Given the description of an element on the screen output the (x, y) to click on. 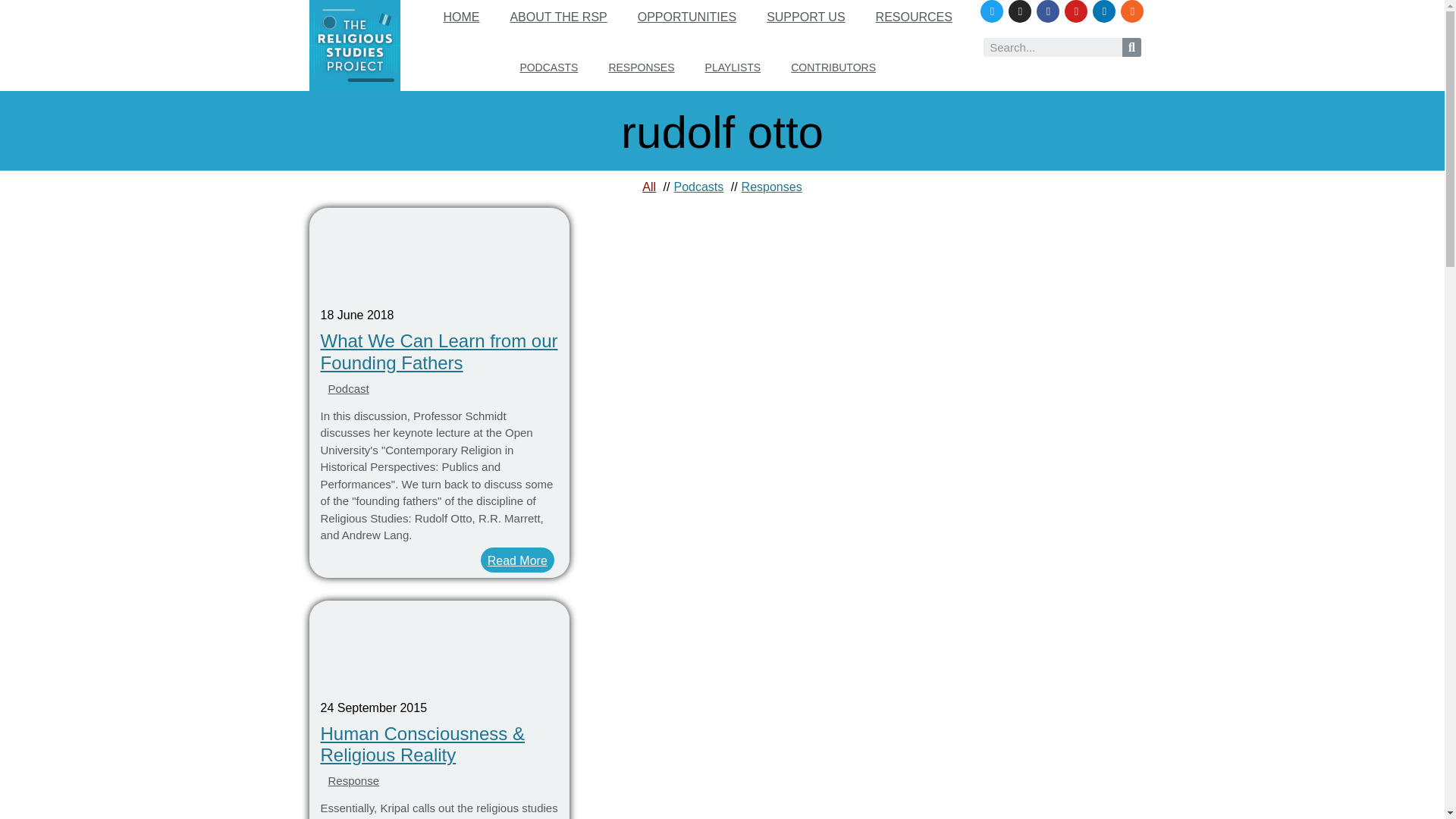
ABOUT THE RSP (558, 17)
HOME (461, 17)
Search (1053, 46)
SUPPORT US (805, 17)
PLAYLISTS (733, 67)
PODCASTS (547, 67)
RESOURCES (914, 17)
Search (1131, 46)
CONTRIBUTORS (833, 67)
OPPORTUNITIES (687, 17)
RESPONSES (640, 67)
